Given the description of an element on the screen output the (x, y) to click on. 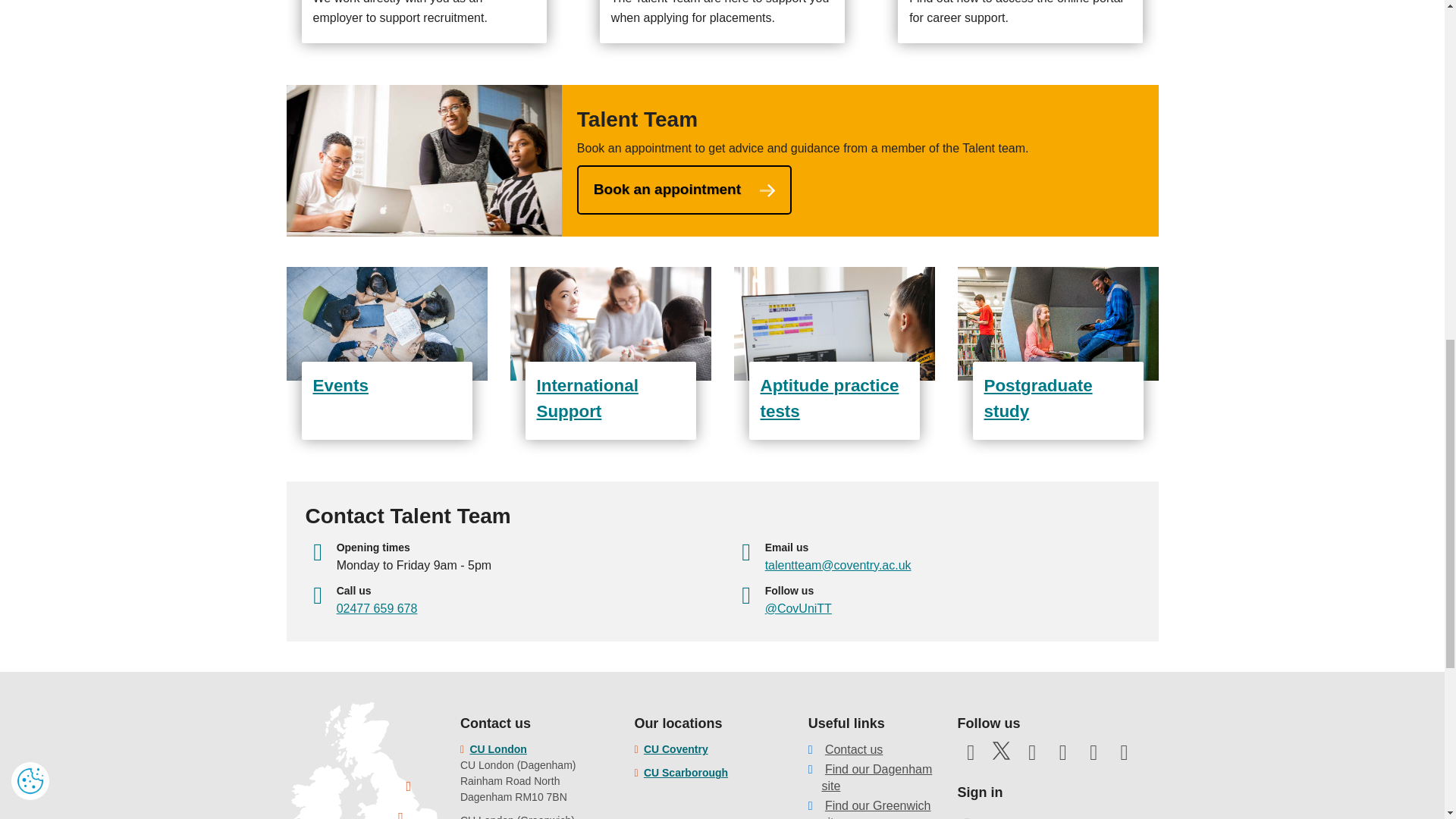
Contact us (853, 748)
International Support (609, 352)
02477 659 678 (376, 608)
Aptitude practice tests (833, 352)
Connect with us on Linkedin (1093, 756)
Postgraduate study (1056, 352)
Book an appointment (684, 189)
Find our Dagenham site (876, 777)
Add us on Snapchat (1124, 756)
Follow us on Instagram (1063, 756)
CU London (496, 748)
